Given the description of an element on the screen output the (x, y) to click on. 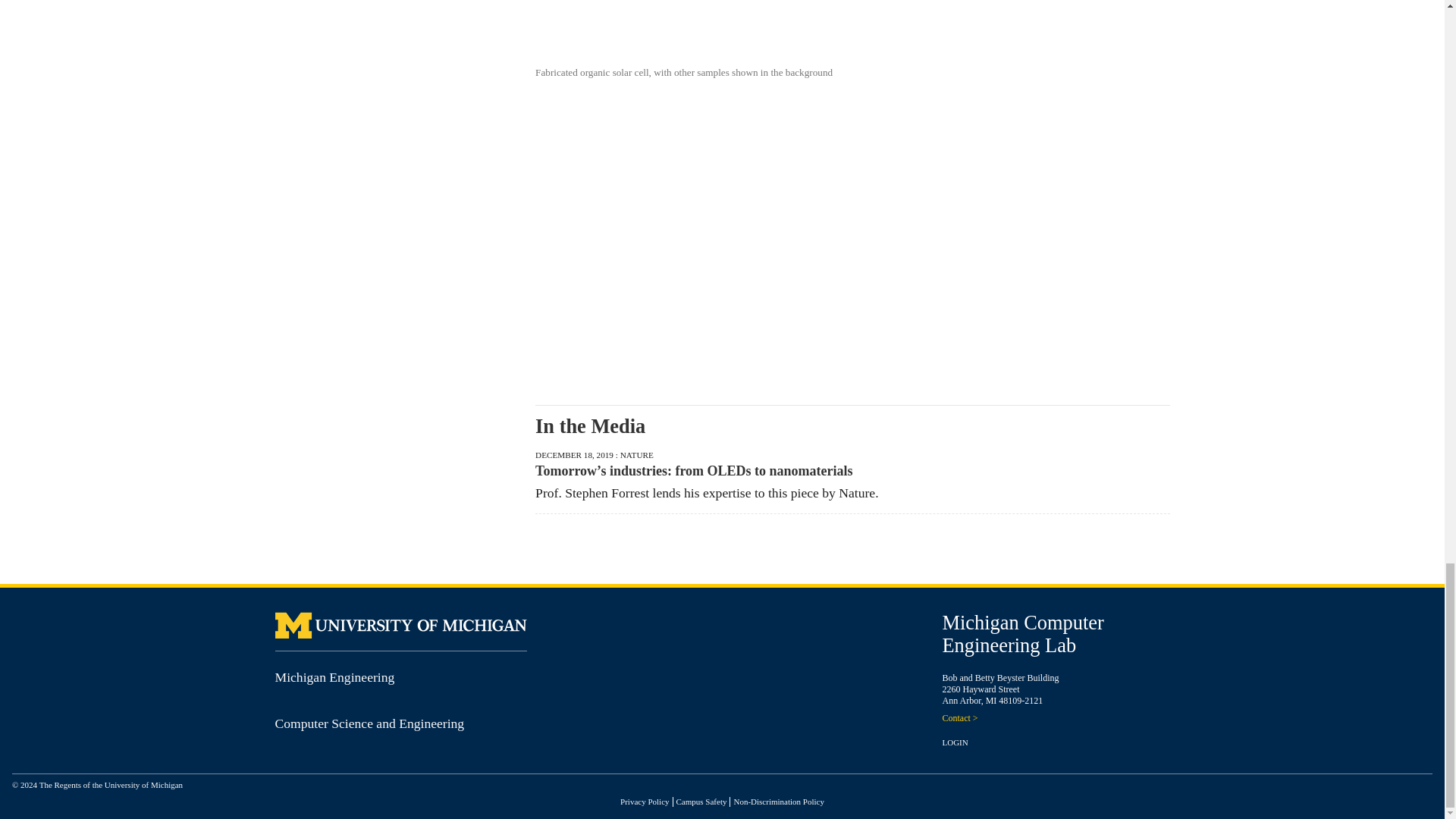
Campus Safety (701, 800)
Michigan Engineering (334, 676)
Michigan Computer Engineering Lab (1022, 633)
LOGIN (955, 741)
The Regents of the University of Michigan (111, 784)
Non-Discrimination Policy (778, 800)
Privacy Policy (644, 800)
Computer Science and Engineering (369, 723)
